Given the description of an element on the screen output the (x, y) to click on. 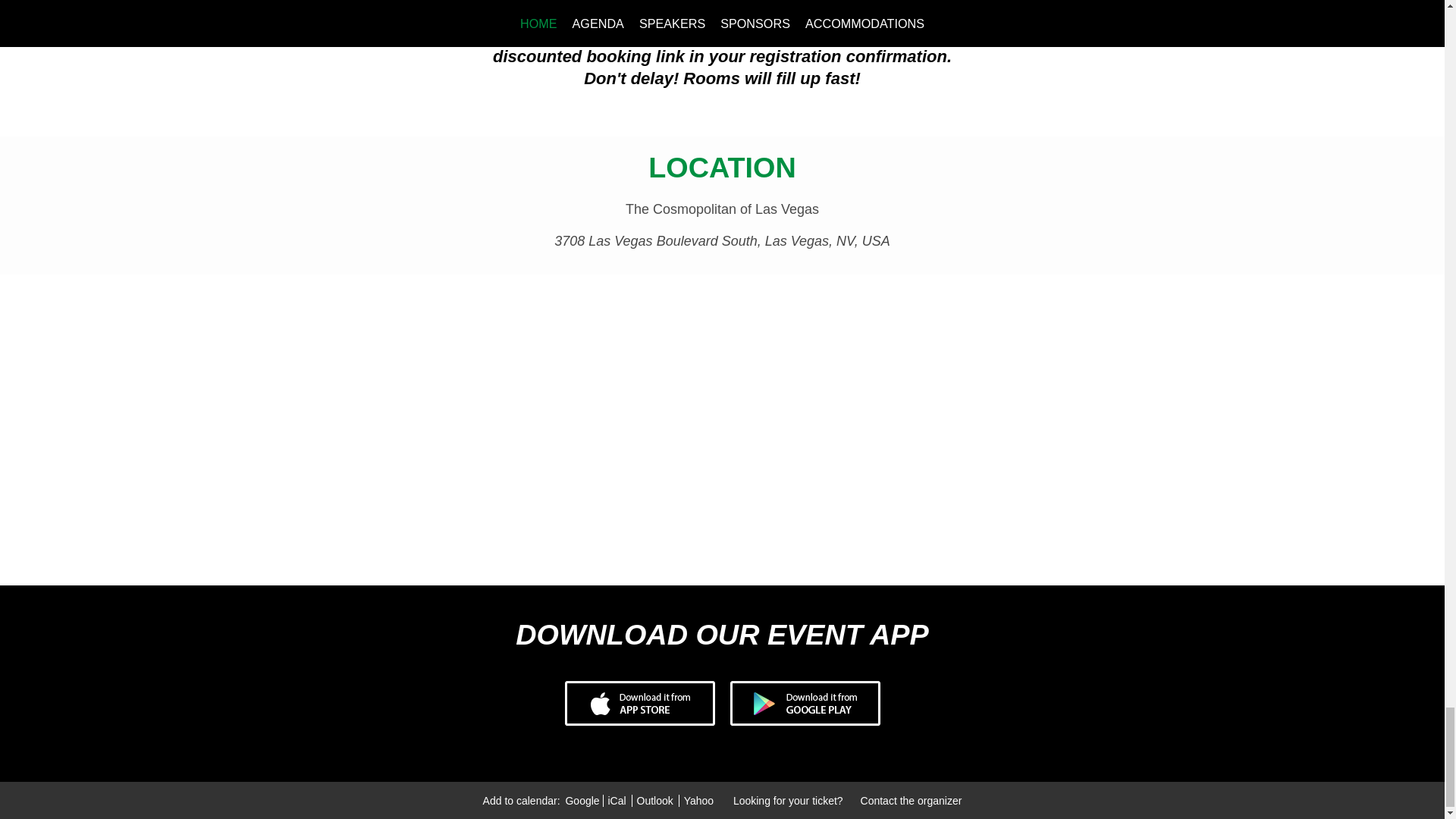
Looking for your ticket? (789, 800)
Outlook (654, 800)
iCal (616, 800)
Yahoo (697, 800)
Google (582, 800)
3708 Las Vegas Boulevard South, Las Vegas, NV, USA (721, 240)
